Given the description of an element on the screen output the (x, y) to click on. 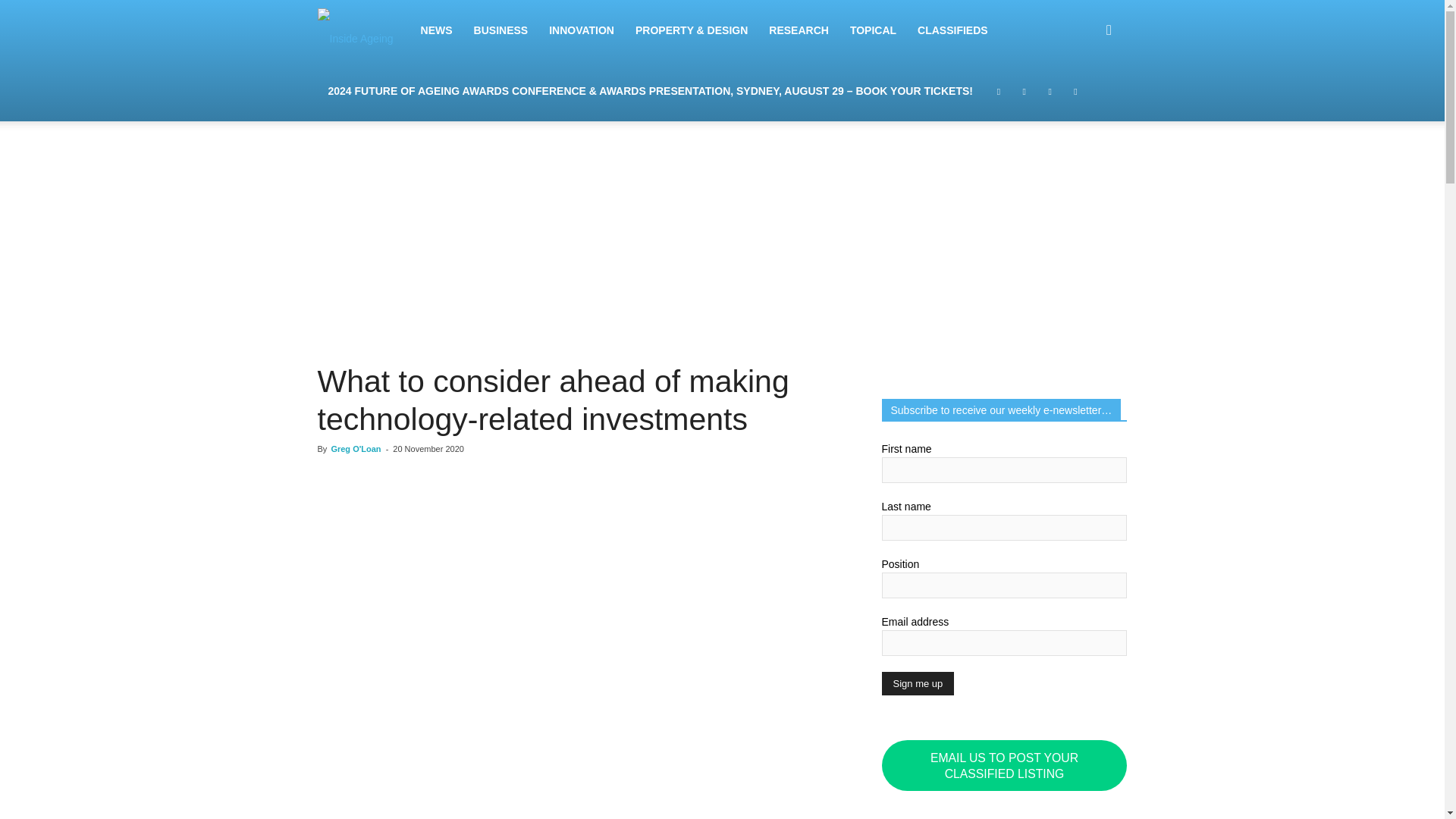
Sign me up (916, 683)
Inside Ageing (363, 30)
business news for aged care services (355, 30)
